Given the description of an element on the screen output the (x, y) to click on. 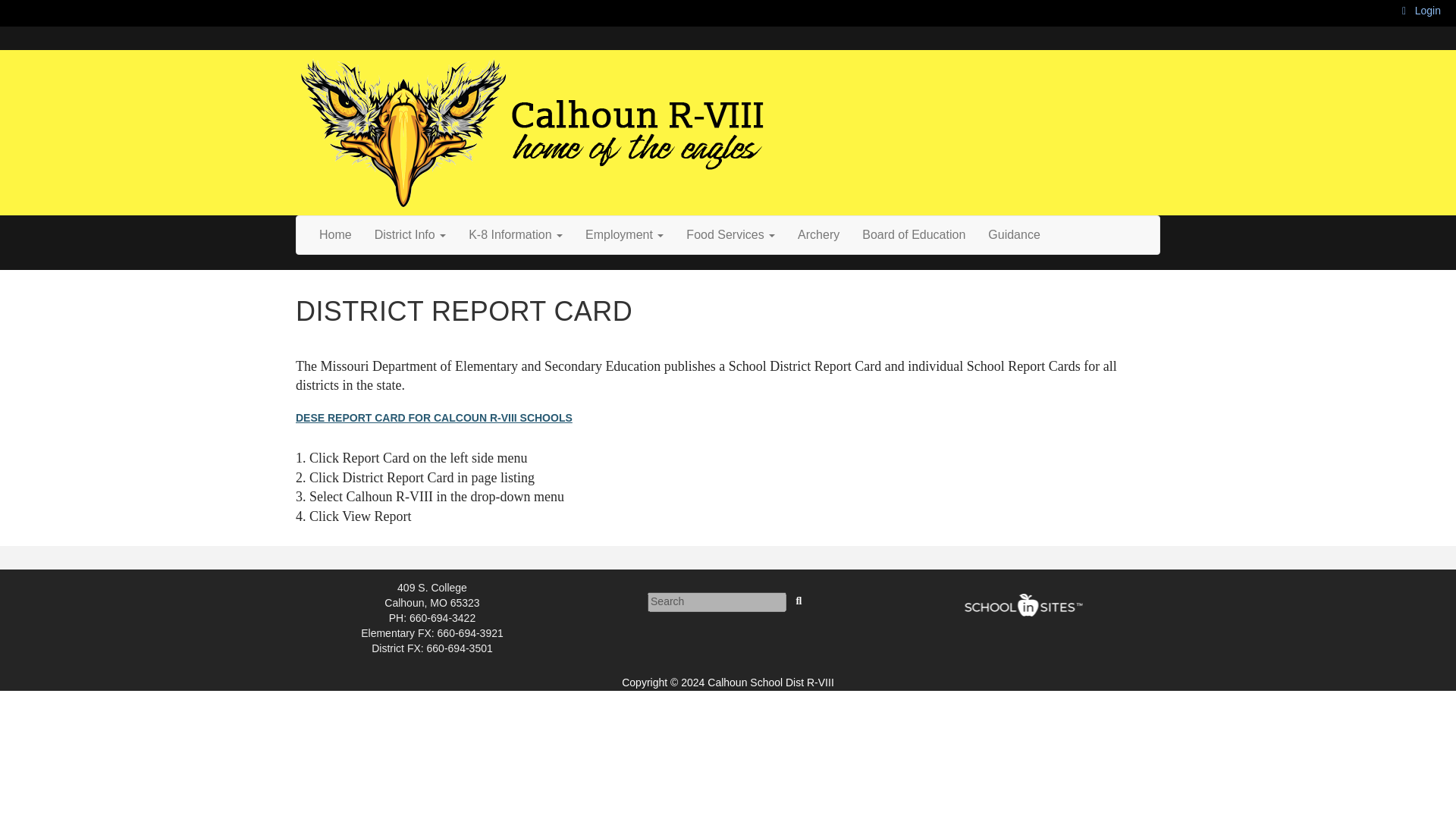
K-8 Information (515, 234)
District Info (409, 234)
Home (334, 234)
Board of Education (913, 234)
Guidance (1013, 234)
DESE REPORT CARD FOR CALCOUN R-VIII SCHOOLS (433, 417)
  Login (1421, 10)
Employment (624, 234)
Archery (818, 234)
SCHOOLinSITES (1022, 605)
Food Services (730, 234)
